Given the description of an element on the screen output the (x, y) to click on. 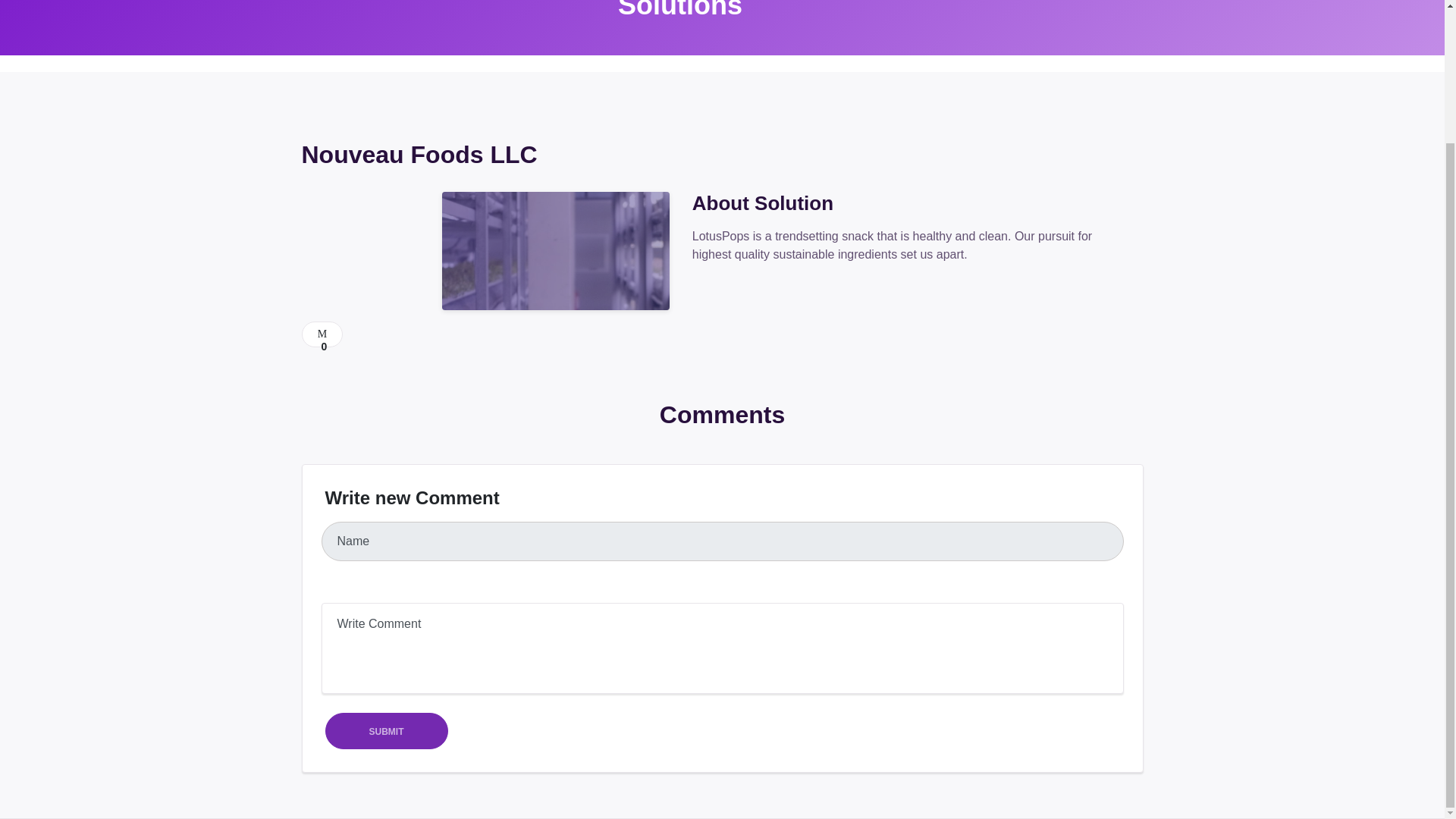
Submit (386, 731)
0 (322, 334)
Submit (386, 731)
